Given the description of an element on the screen output the (x, y) to click on. 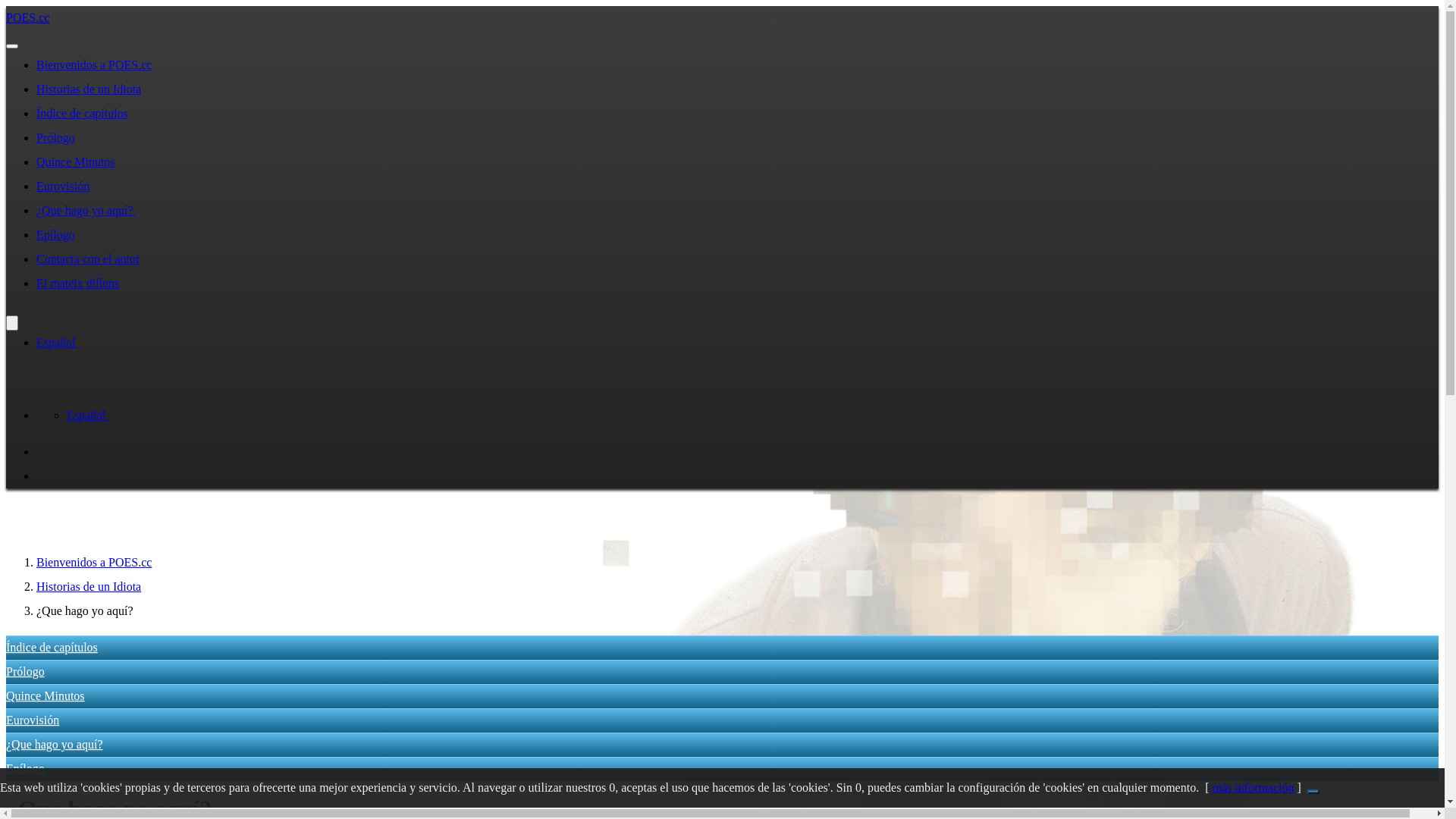
Quince Minutos Element type: text (45, 695)
El mateix dilluns Element type: text (77, 282)
Quince Minutos Element type: text (75, 161)
Historias de un Idiota Element type: text (88, 88)
Bienvenidos a POES.cc Element type: text (93, 561)
Bienvenidos a POES.cc Element type: text (93, 64)
Historias de un Idiota Element type: text (88, 586)
POES.cc Element type: text (27, 17)
Contacta con el autor Element type: text (87, 258)
